Given the description of an element on the screen output the (x, y) to click on. 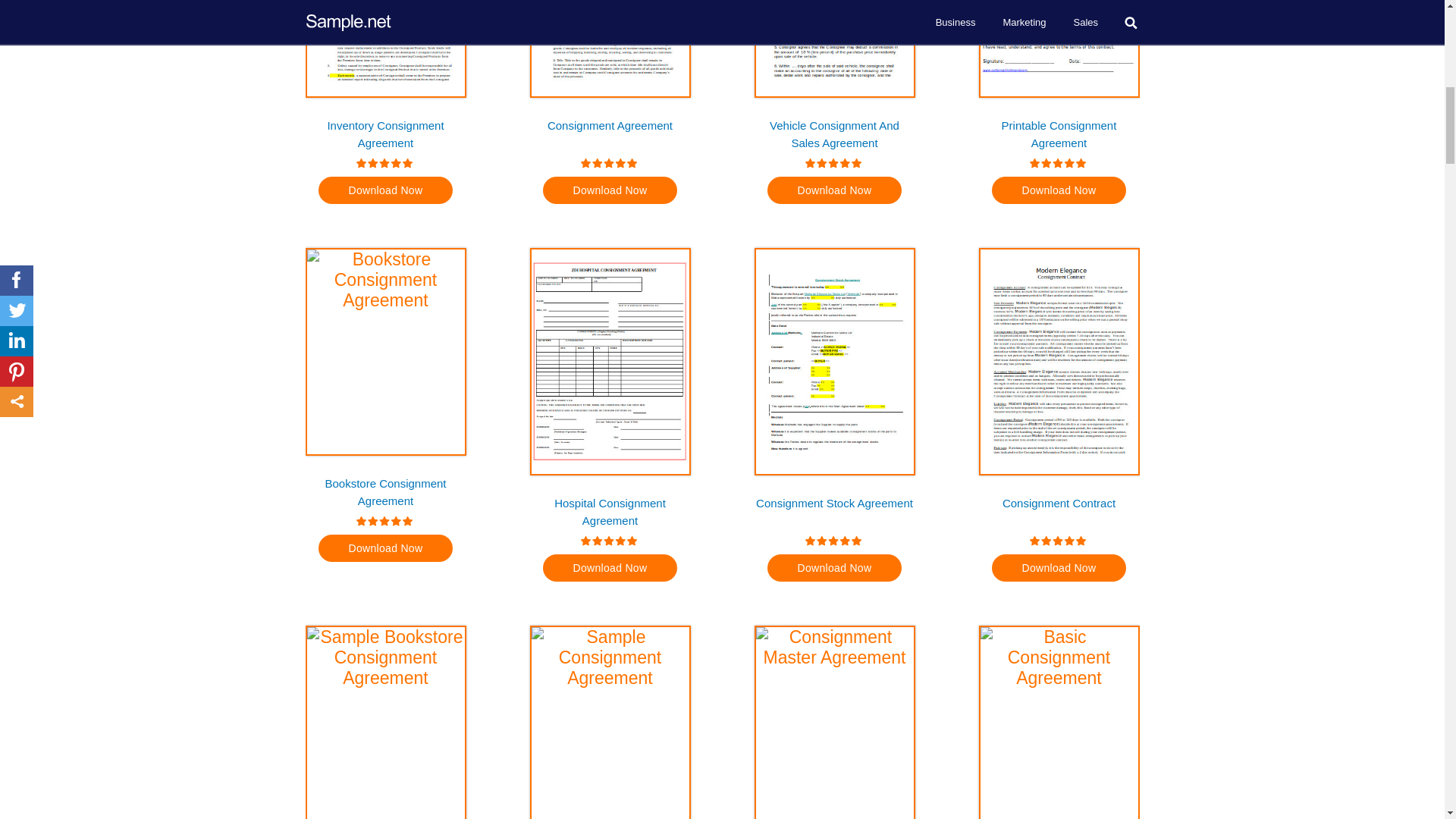
Printable Consignment Agreement (1058, 133)
Hospital Consignment Agreement (609, 510)
Consignment Contract (1058, 510)
Download Now (610, 566)
Consignment Stock Agreement (834, 510)
Download Now (385, 547)
Download Now (610, 189)
Download Now (1058, 189)
Inventory Consignment Agreement (384, 133)
Download Now (834, 566)
Download Now (834, 189)
Bookstore Consignment Agreement (384, 491)
Download Now (385, 189)
Consignment Agreement (609, 133)
Vehicle Consignment And Sales Agreement (834, 133)
